Given the description of an element on the screen output the (x, y) to click on. 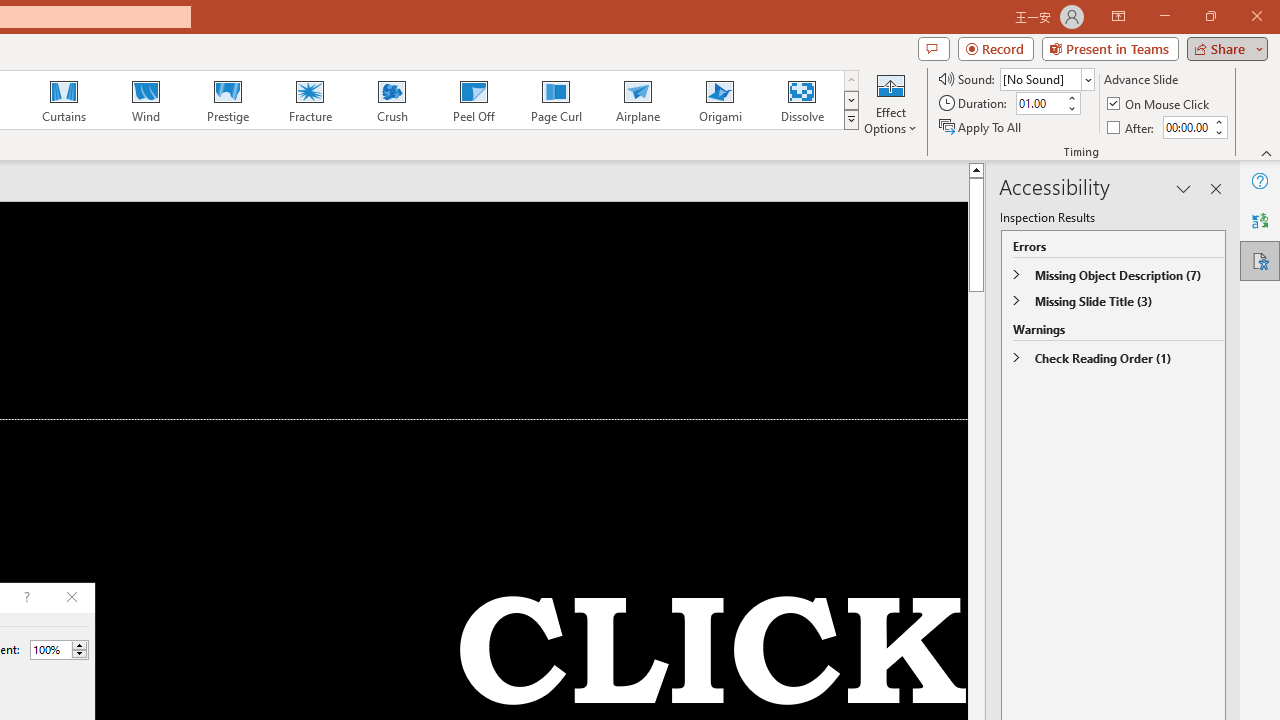
Page Curl (555, 100)
Sound (1046, 78)
Transition Effects (850, 120)
After (1186, 127)
On Mouse Click (1159, 103)
